Given the description of an element on the screen output the (x, y) to click on. 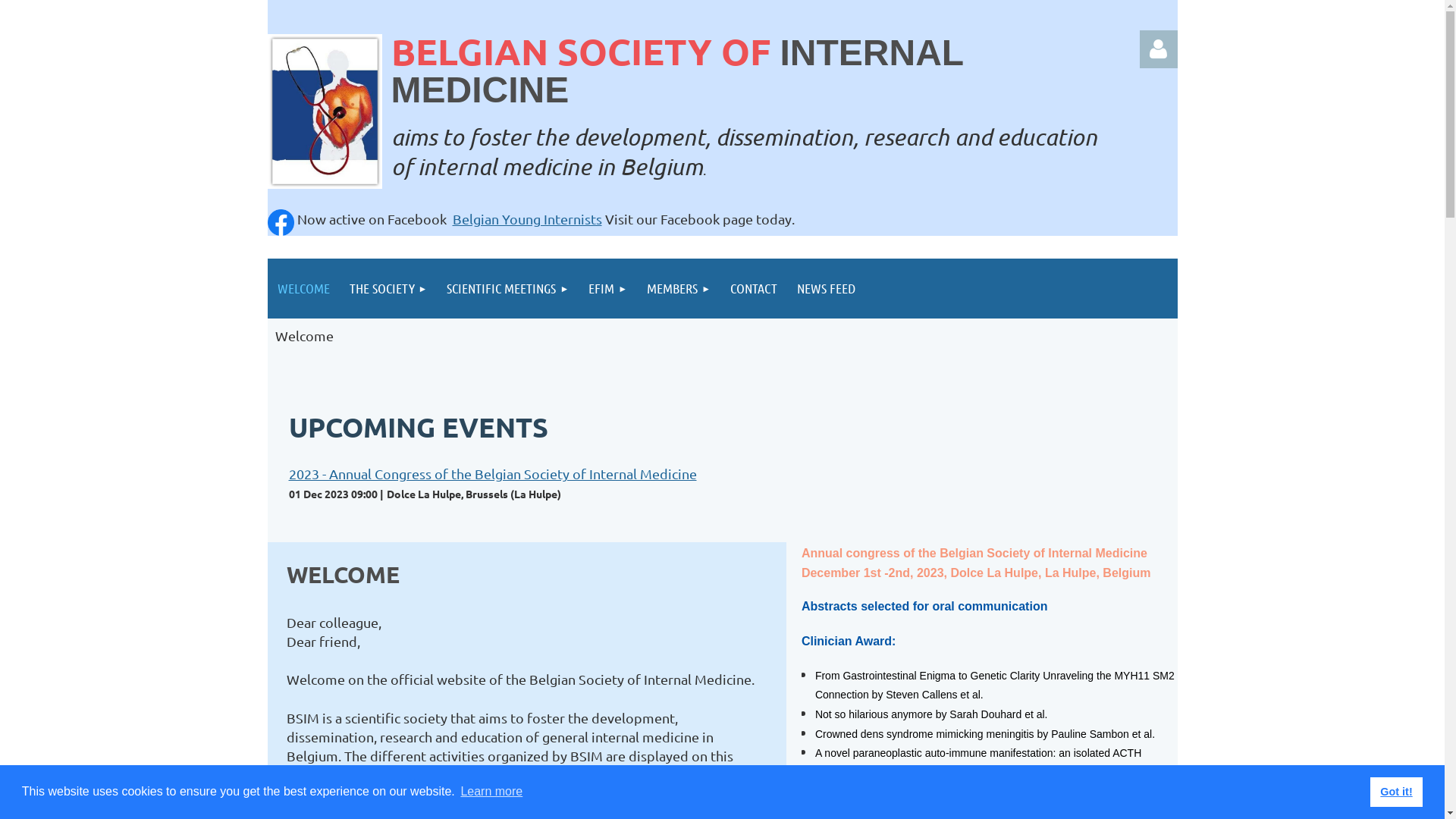
Log in Element type: text (1157, 49)
Got it! Element type: text (1396, 791)
Belgian Young Internists Element type: text (526, 218)
EFIM Element type: text (607, 288)
Learn more Element type: text (491, 791)
CONTACT Element type: text (753, 288)
THE SOCIETY Element type: text (388, 288)
WELCOME Element type: text (302, 288)
SCIENTIFIC MEETINGS Element type: text (507, 288)
MEMBERS Element type: text (678, 288)
NEWS FEED Element type: text (826, 288)
